Given the description of an element on the screen output the (x, y) to click on. 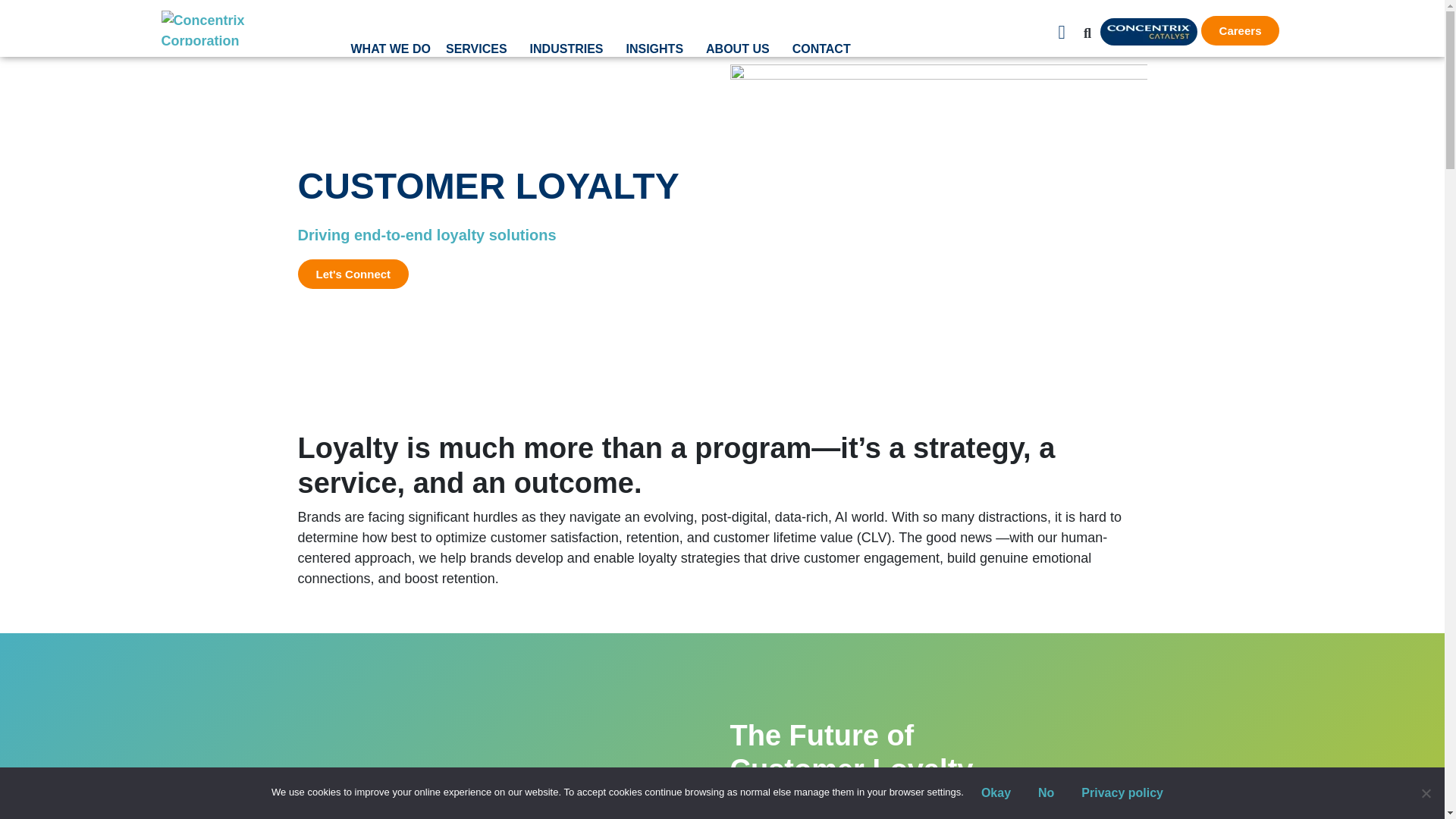
INDUSTRIES (570, 49)
No (1425, 792)
WHAT WE DO (390, 49)
nav-catalyst-logo-yl.webp (1148, 31)
SERVICES (480, 49)
